Given the description of an element on the screen output the (x, y) to click on. 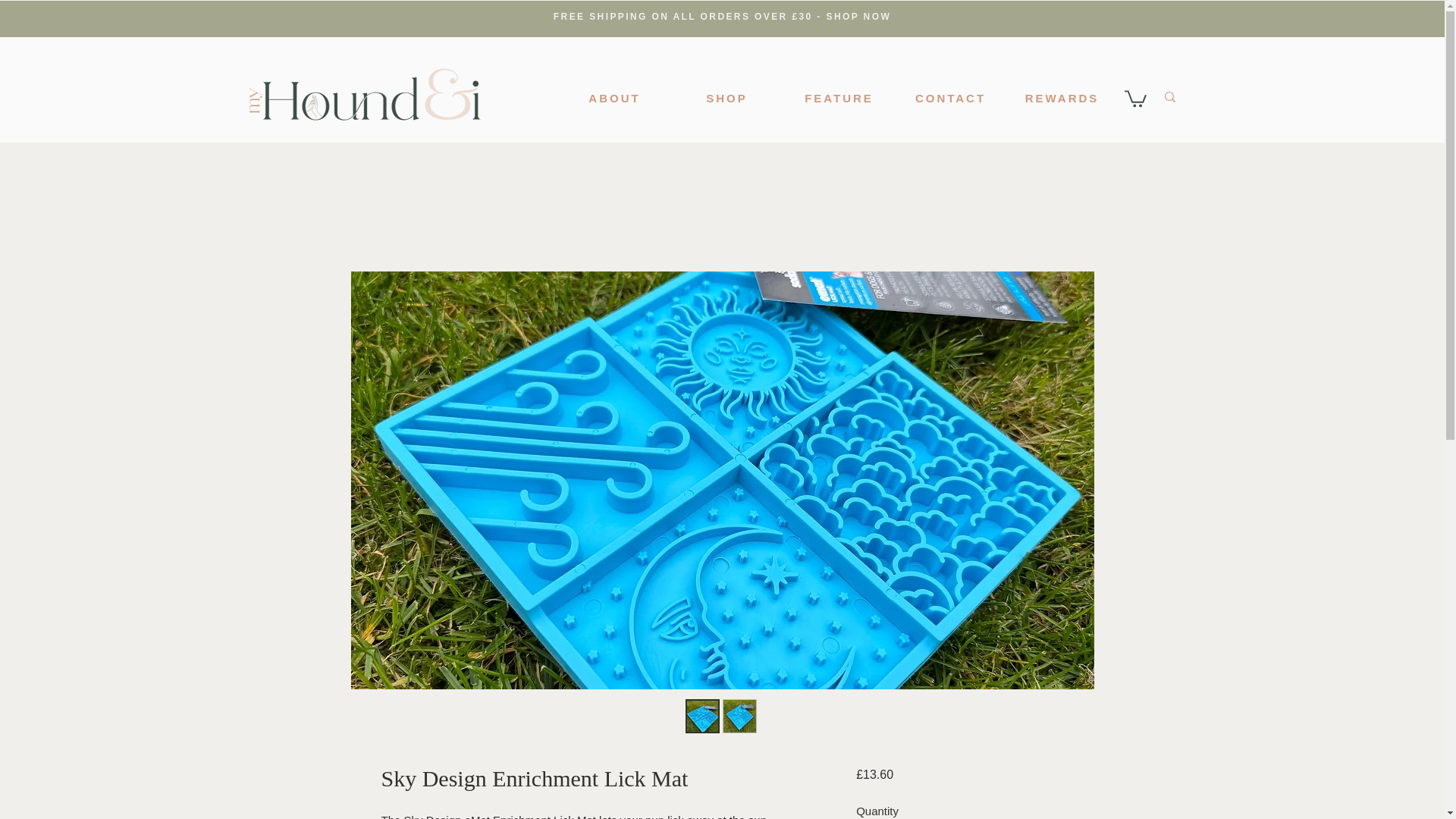
SHOP (726, 97)
ABOUT (614, 97)
CONTACT (950, 97)
REWARDS (1062, 97)
FEATURE (839, 97)
